Given the description of an element on the screen output the (x, y) to click on. 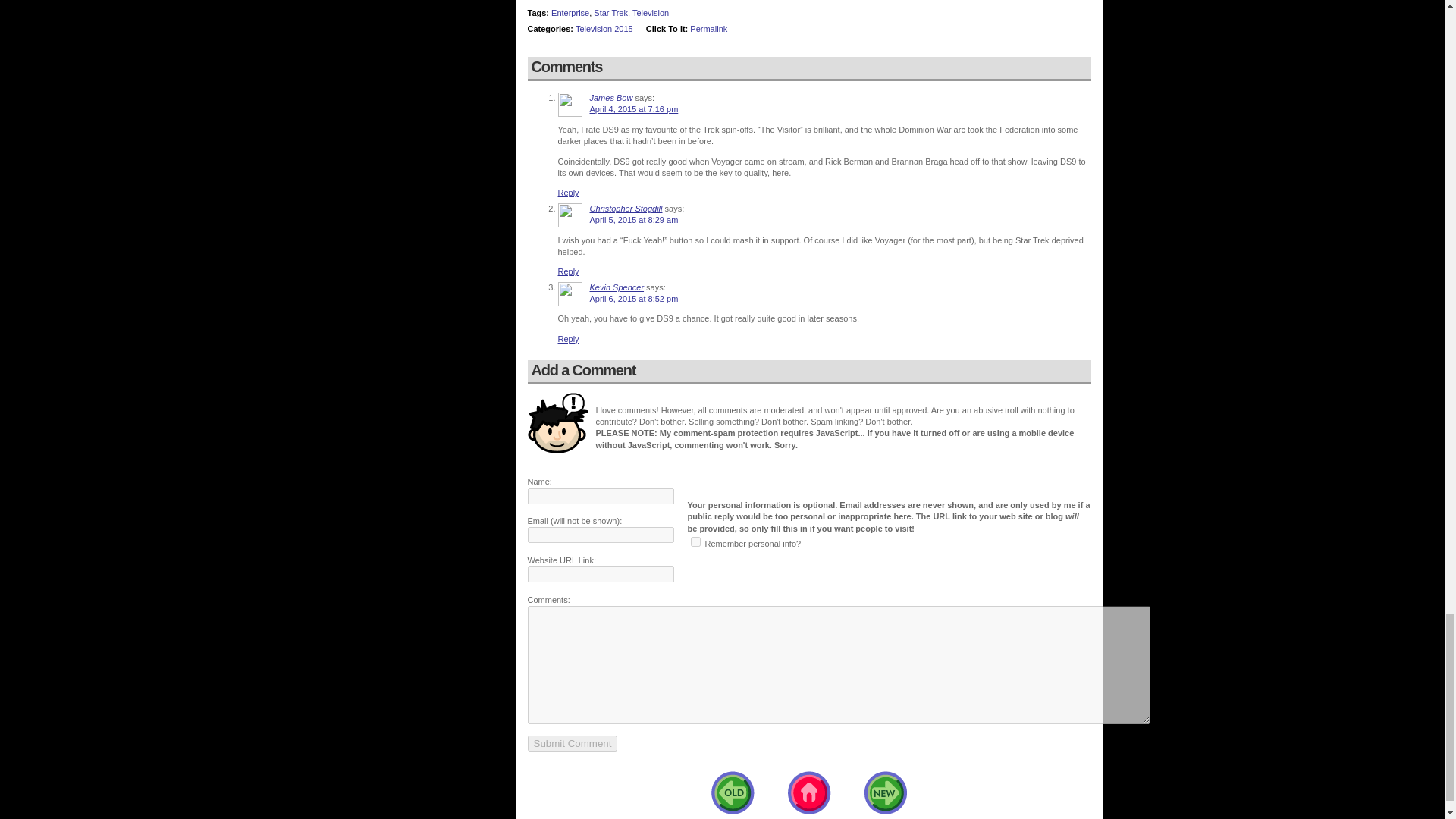
Enterprise (570, 12)
1 (695, 542)
April 4, 2015 at 7:16 pm (633, 108)
Reply (568, 271)
Permalink (708, 28)
Reply (568, 338)
April 6, 2015 at 8:52 pm (633, 298)
Television (649, 12)
Submit Comment (572, 743)
Kevin Spencer (617, 286)
